Given the description of an element on the screen output the (x, y) to click on. 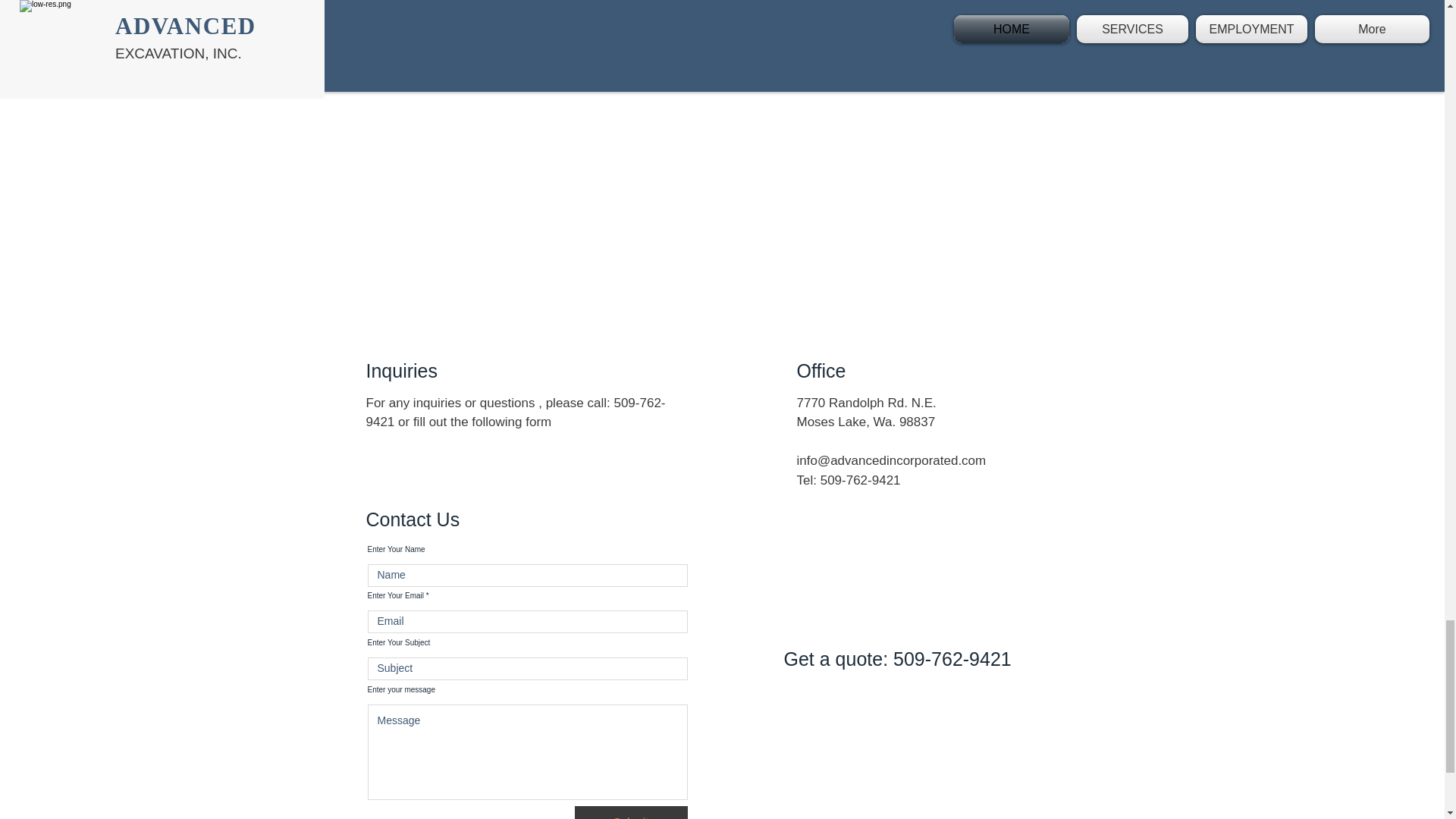
Submit (631, 812)
